Given the description of an element on the screen output the (x, y) to click on. 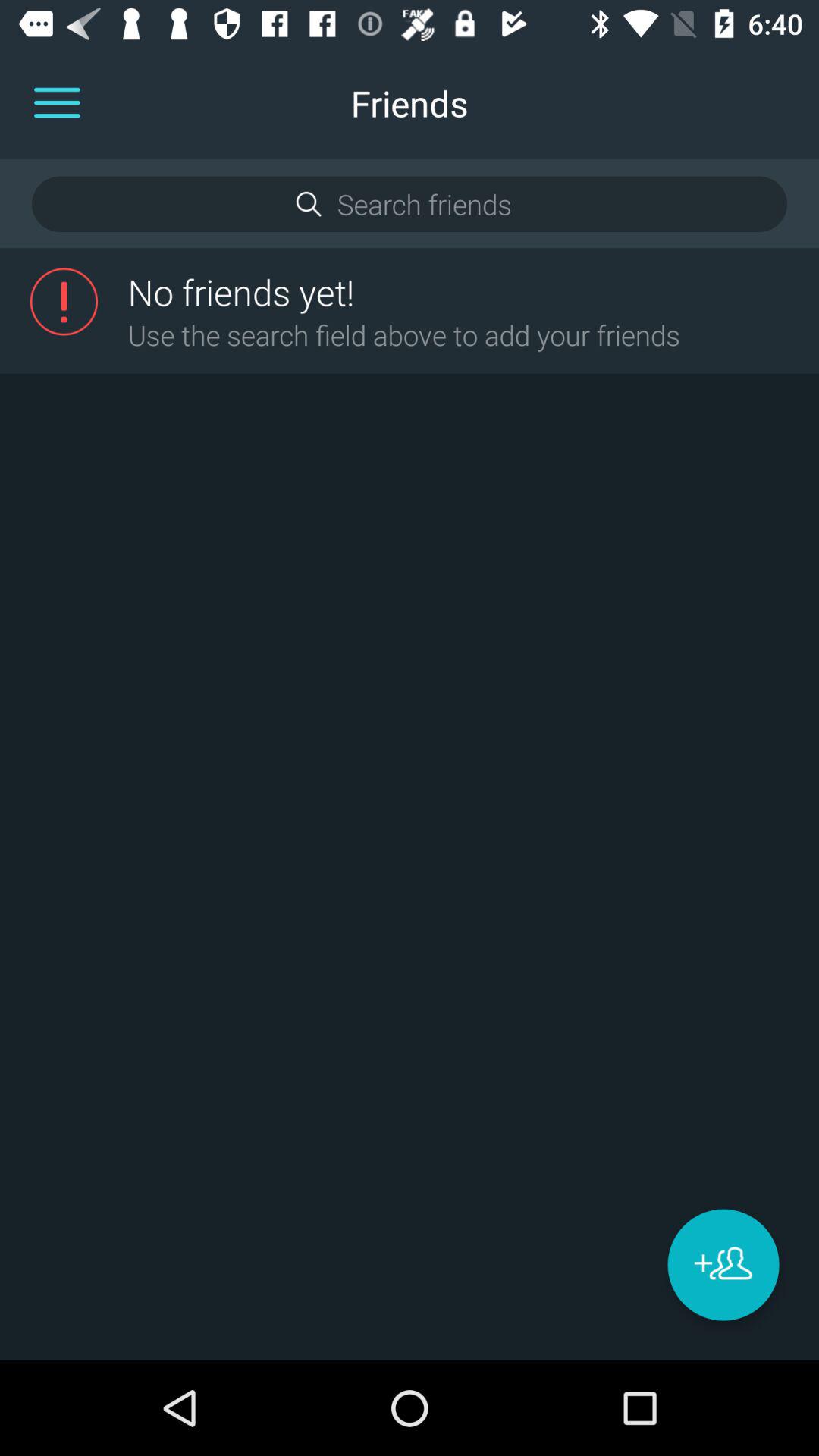
it can be used to open options menu (57, 103)
